Given the description of an element on the screen output the (x, y) to click on. 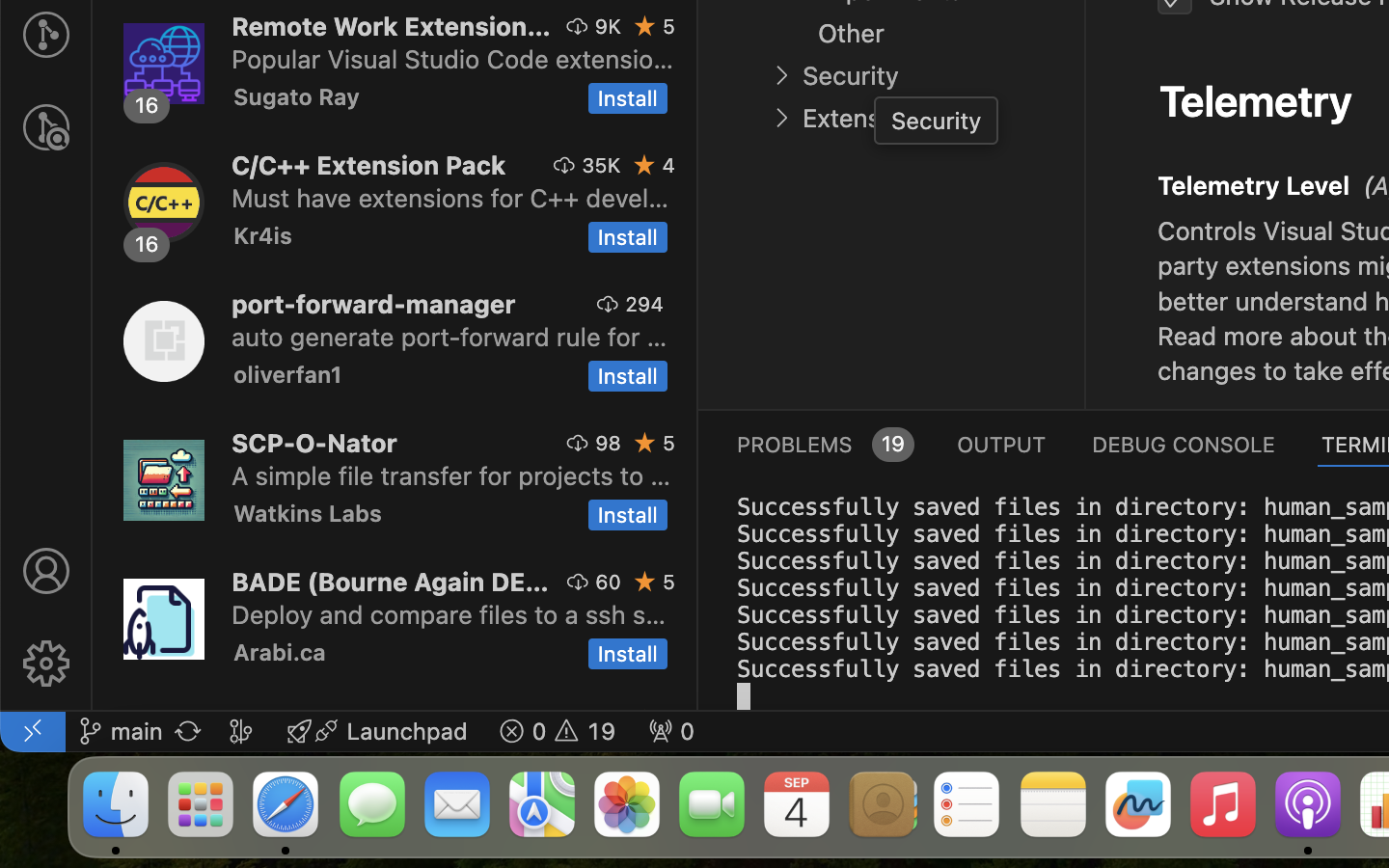
oliverfan1 Element type: AXStaticText (288, 373)
0 PROBLEMS 19 Element type: AXRadioButton (824, 443)
Other Element type: AXStaticText (851, 33)
98 Element type: AXStaticText (608, 442)
C/C++ Extension Pack Element type: AXStaticText (369, 164)
